Given the description of an element on the screen output the (x, y) to click on. 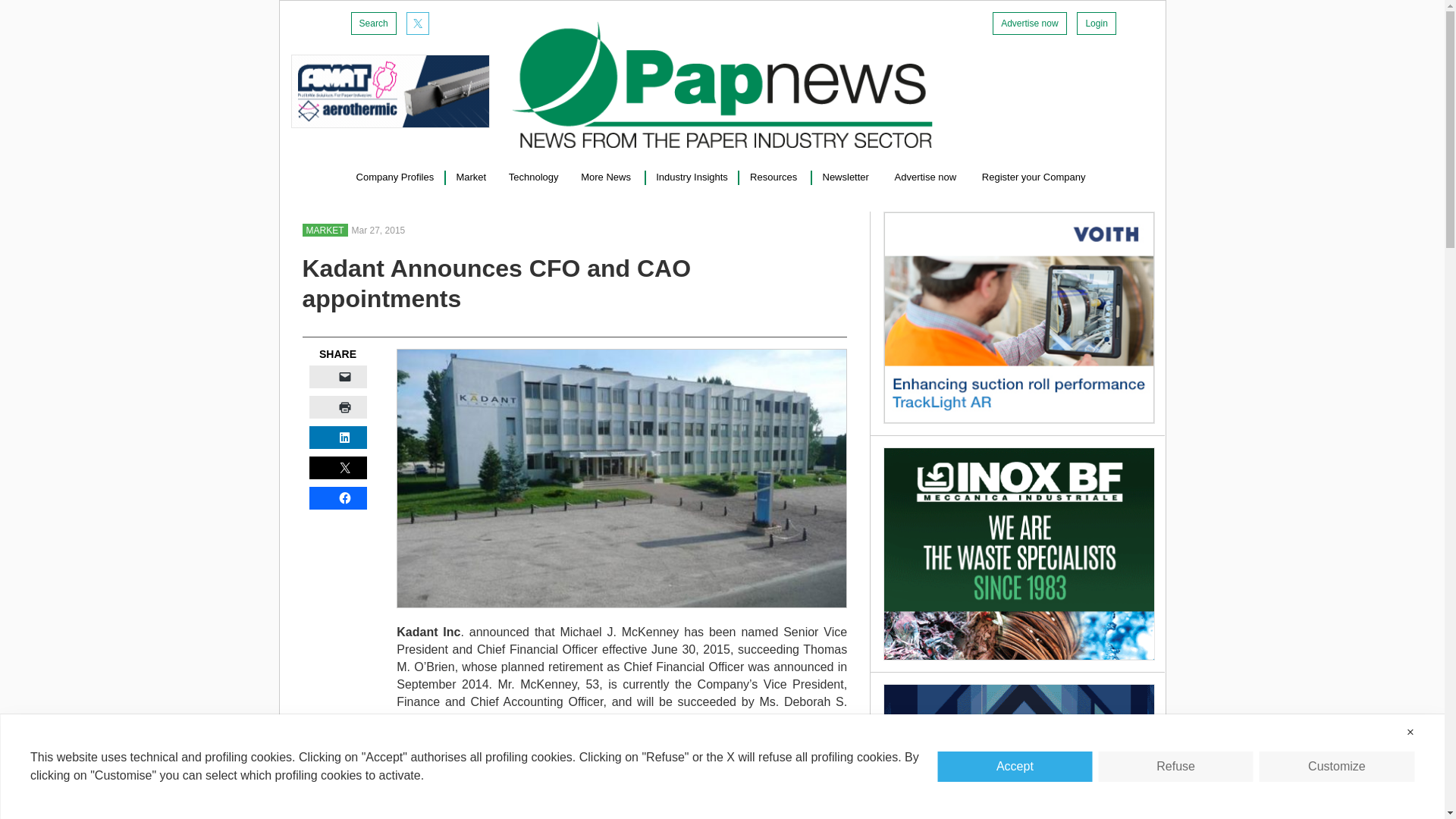
Login (1096, 23)
Newsletter (846, 176)
Company Profiles (394, 176)
Search (373, 23)
Click to share on X (337, 467)
Market (470, 176)
Advertise now (927, 176)
More News (606, 176)
Click to print (337, 406)
Click to share on LinkedIn (337, 436)
Resources (774, 176)
back to home page (722, 84)
Technology (533, 176)
Click to share on Facebook (337, 497)
Advertise now (1028, 23)
